Given the description of an element on the screen output the (x, y) to click on. 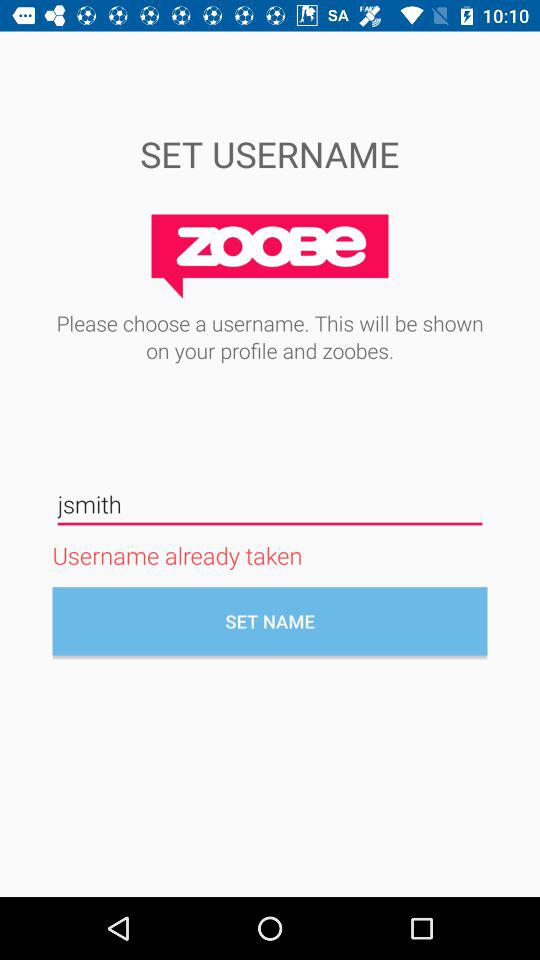
turn off set name item (269, 621)
